Given the description of an element on the screen output the (x, y) to click on. 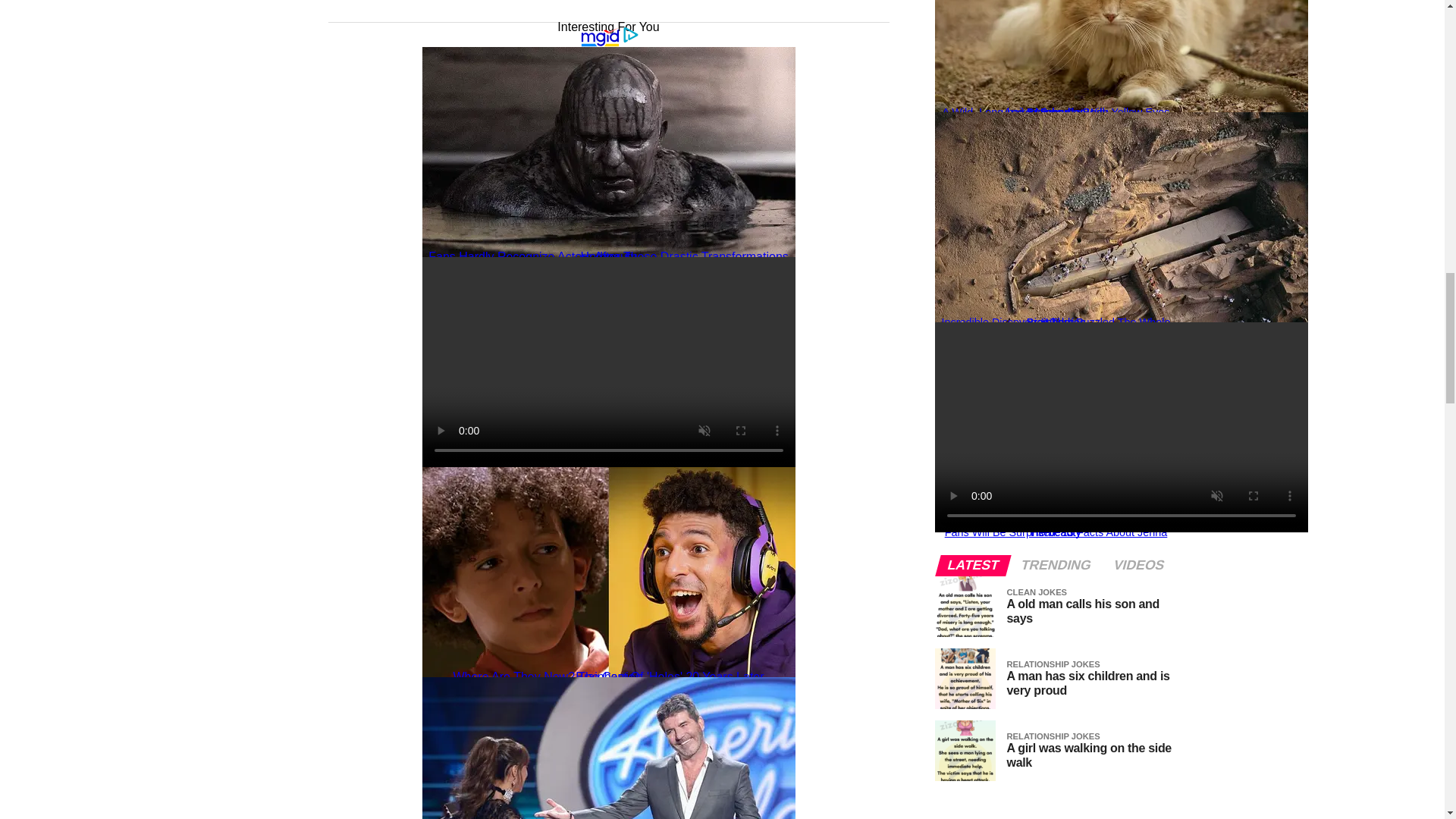
TRENDING (1055, 565)
VIDEOS (1138, 565)
LATEST (973, 565)
